Given the description of an element on the screen output the (x, y) to click on. 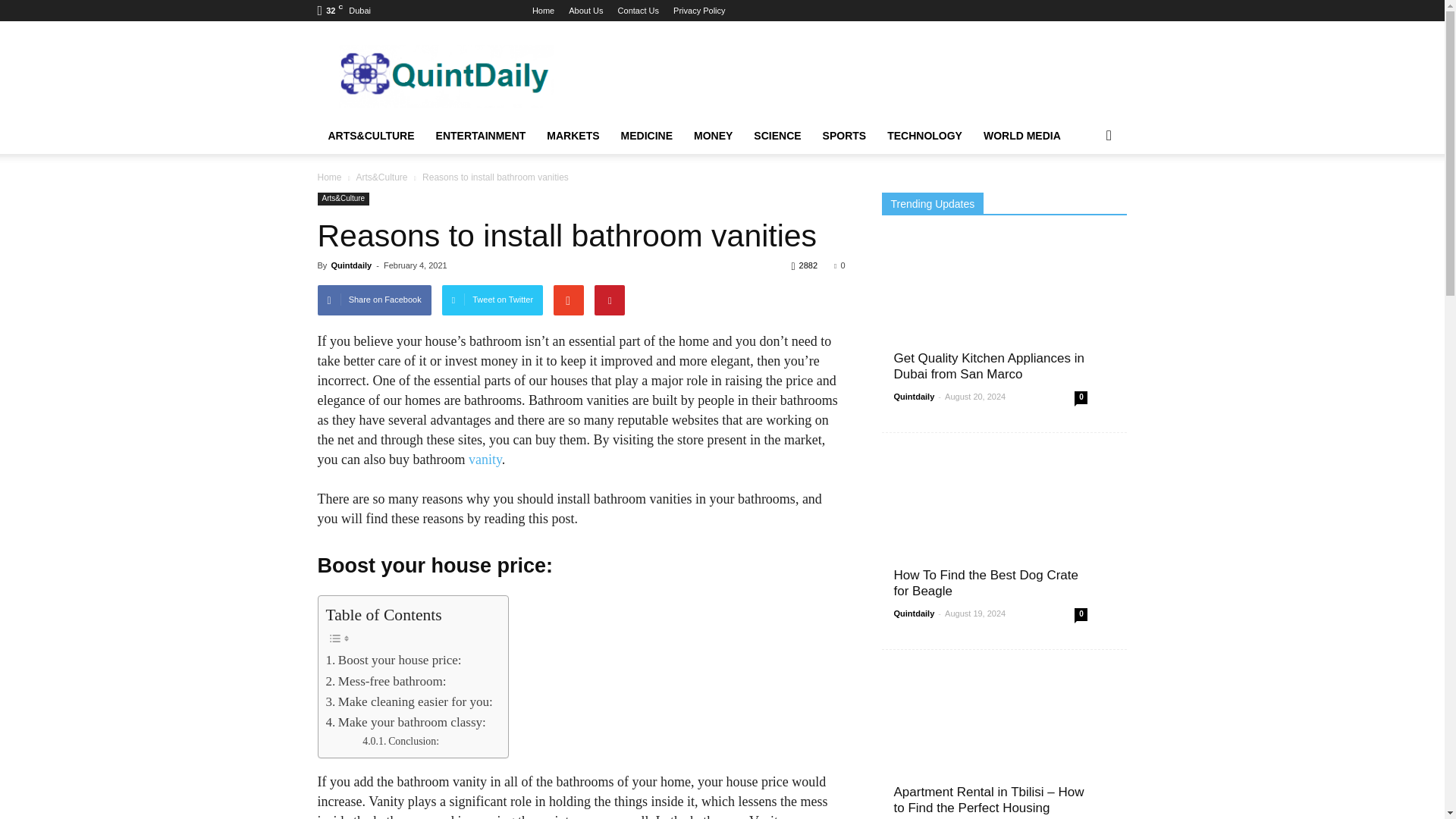
WORLD MEDIA (1021, 135)
MEDICINE (646, 135)
Home (328, 176)
SCIENCE (776, 135)
Boost your house price: (393, 660)
Home (543, 10)
Mess-free bathroom: (386, 680)
Make cleaning easier for you: (409, 701)
Search (1085, 196)
0 (839, 265)
